Given the description of an element on the screen output the (x, y) to click on. 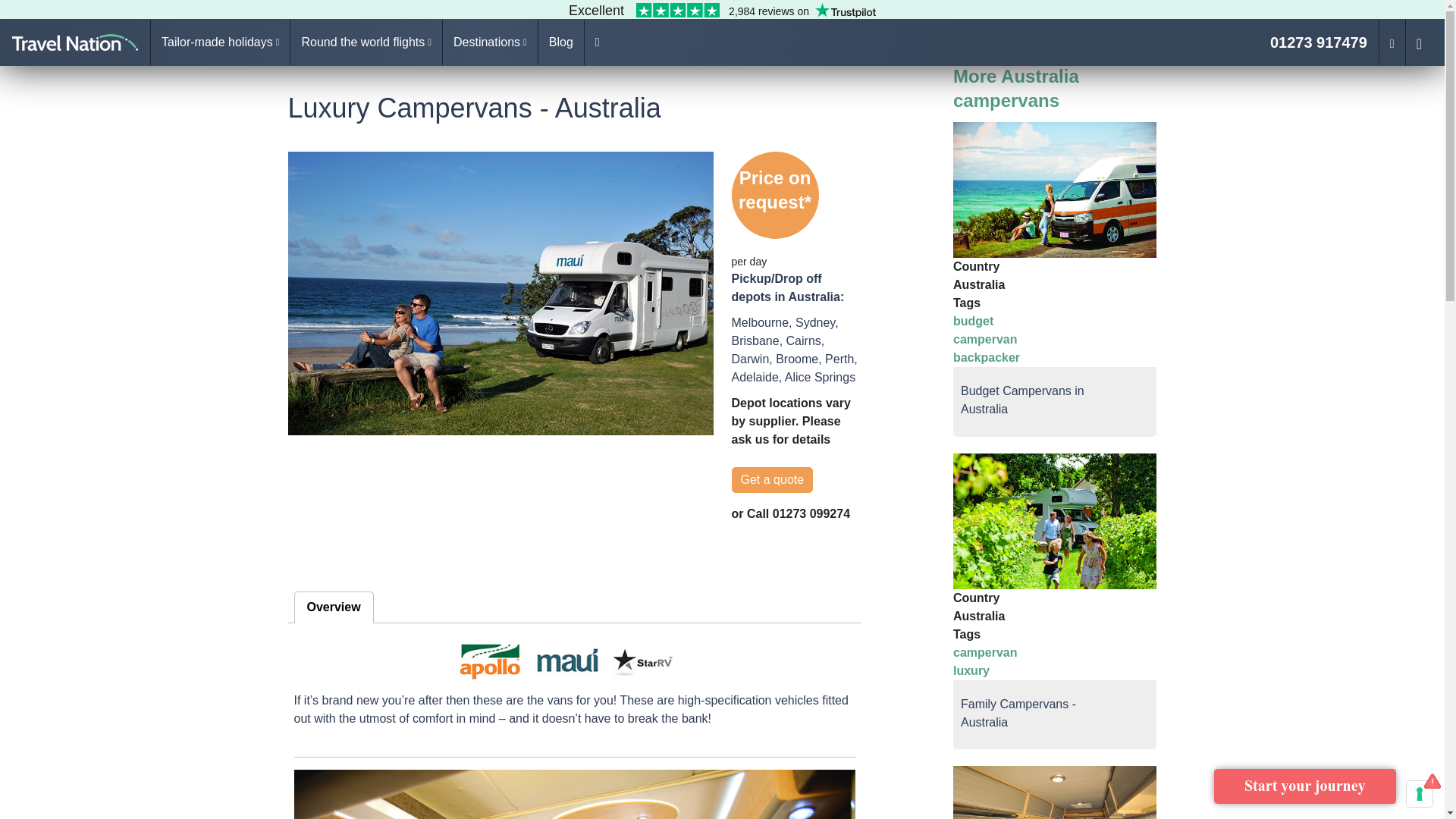
Interior, Star RV Pegasus campervan (575, 794)
Round the world flights (365, 42)
Explore in complete comfort with a luxury campervan (500, 292)
Get a quote for Luxury Campervans - Australia (771, 479)
Hit the road in complete comfort (1055, 792)
Tailor-made holidays (219, 42)
Budget campervan, Australia (1055, 189)
Skip to main content (65, 10)
Luxury campervan, Australia (1055, 520)
Home (74, 42)
